Given the description of an element on the screen output the (x, y) to click on. 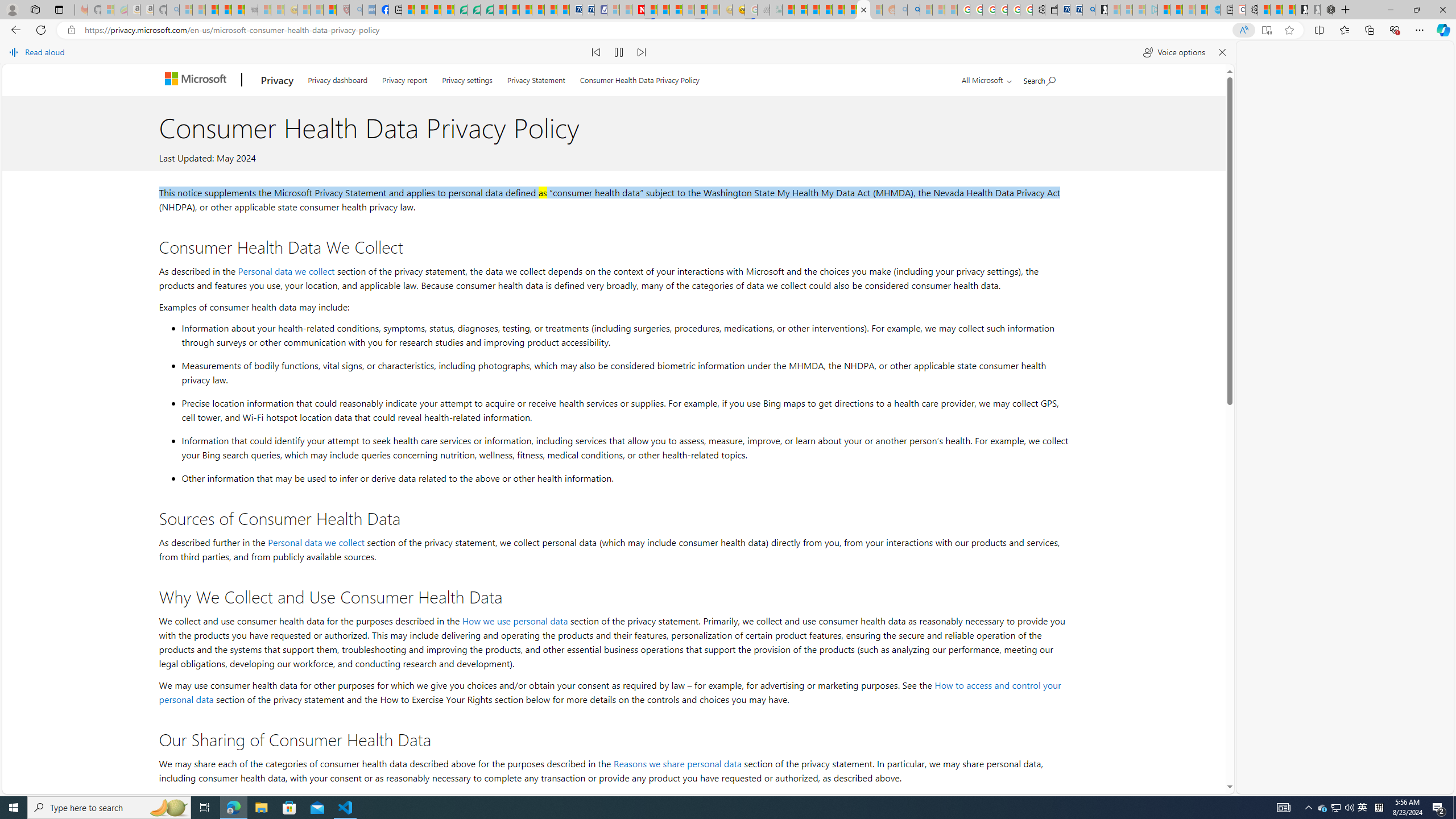
Local - MSN (329, 9)
The Weather Channel - MSN (212, 9)
Navy Quest (763, 9)
Search Microsoft.com (1039, 78)
Reasons we share personal data (676, 762)
DITOGAMES AG Imprint - Sleeping (775, 9)
Combat Siege (251, 9)
Utah sues federal government - Search - Sleeping (913, 9)
